Given the description of an element on the screen output the (x, y) to click on. 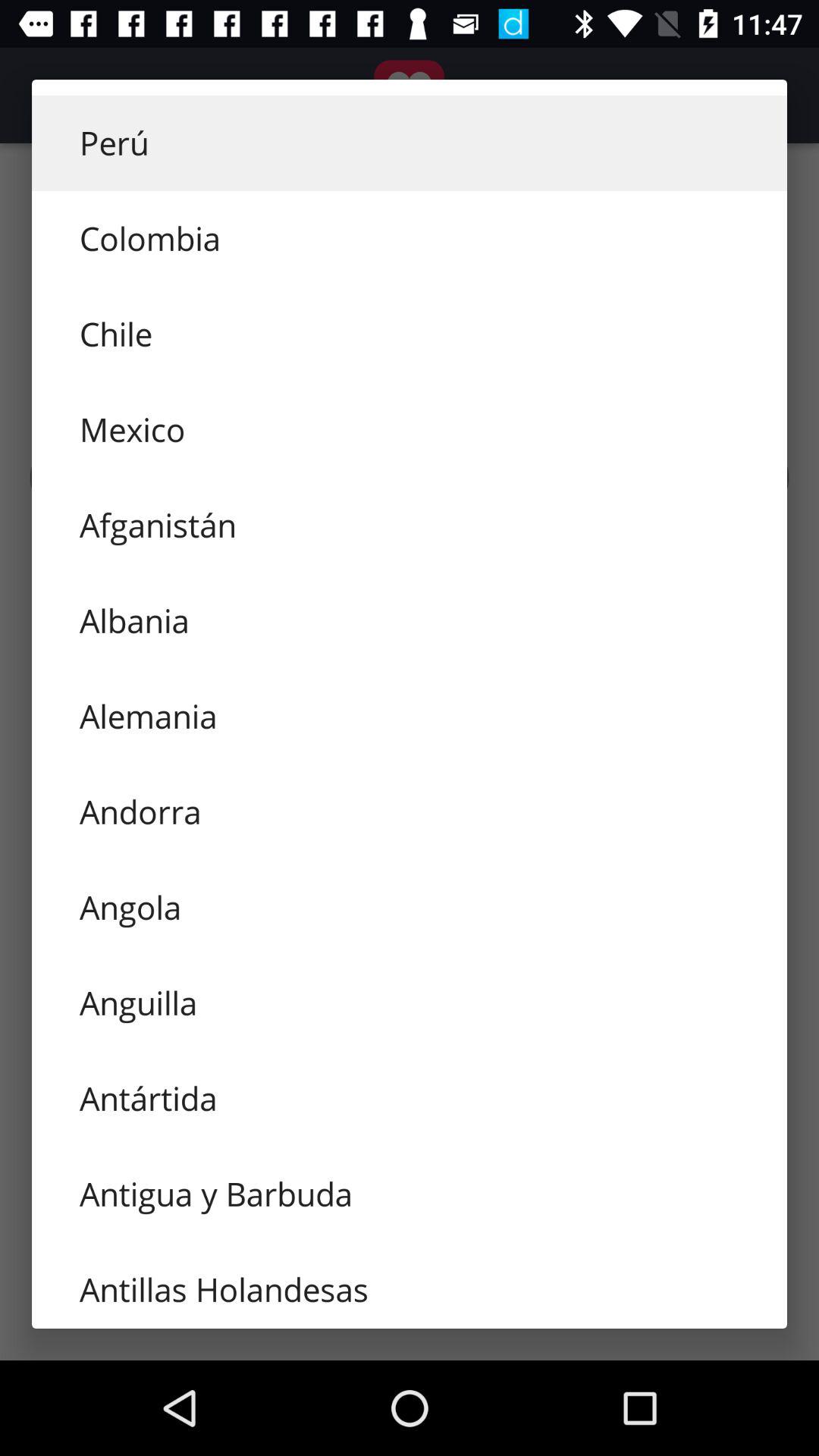
click the icon below the anguilla item (409, 1098)
